Given the description of an element on the screen output the (x, y) to click on. 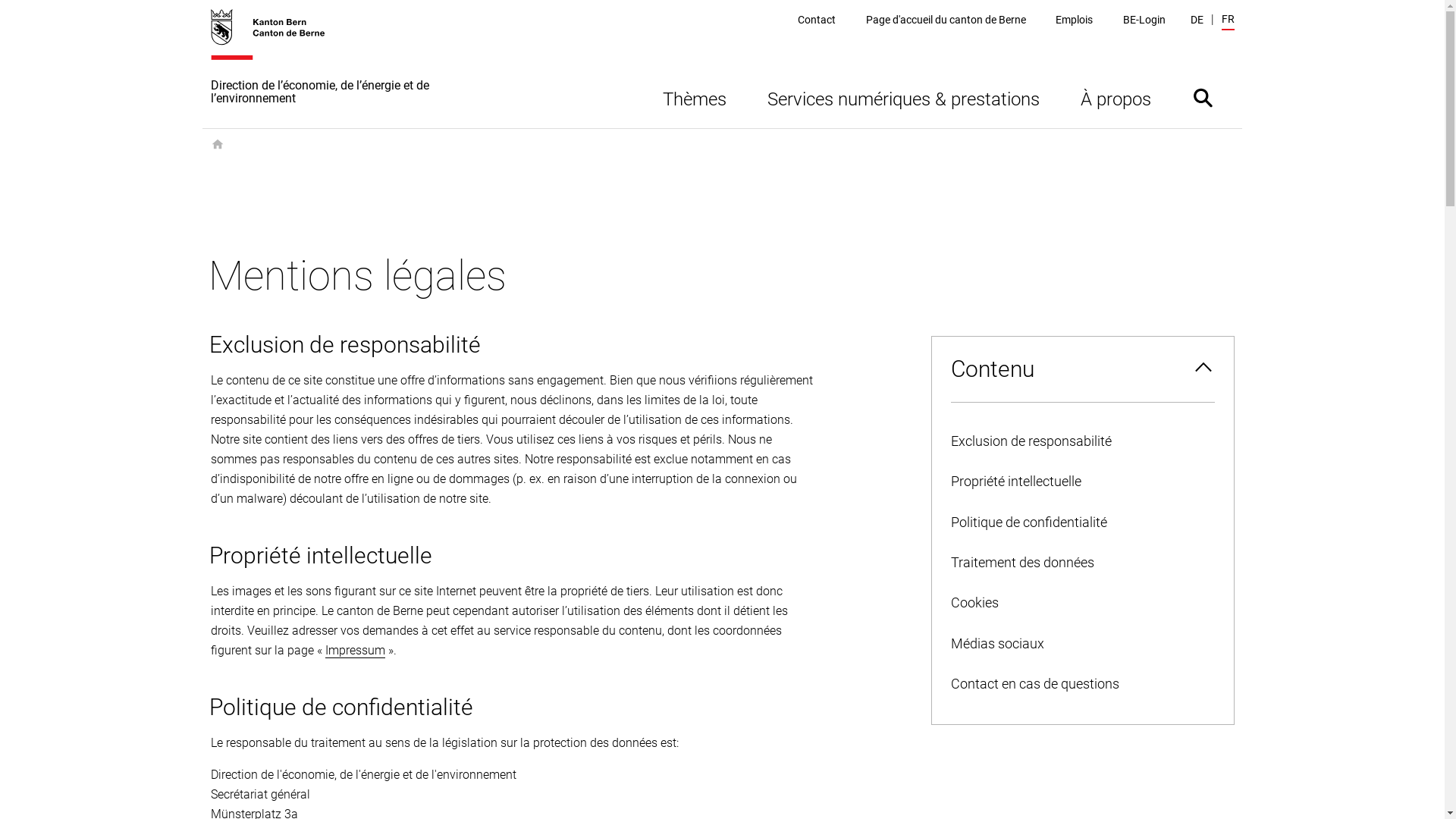
Contact en cas de questions Element type: text (1082, 684)
DE Element type: text (1196, 19)
Afficher/masquer la barre de recherche Element type: text (1201, 96)
Emplois Element type: text (1073, 19)
Cookies Element type: text (1082, 603)
Contact Element type: text (816, 19)
FR Element type: text (1226, 21)
BE-Login Element type: text (1144, 19)
Impressum Element type: text (354, 650)
Contenu Element type: text (1082, 368)
Page d'accueil du canton de Berne Element type: text (946, 19)
